Given the description of an element on the screen output the (x, y) to click on. 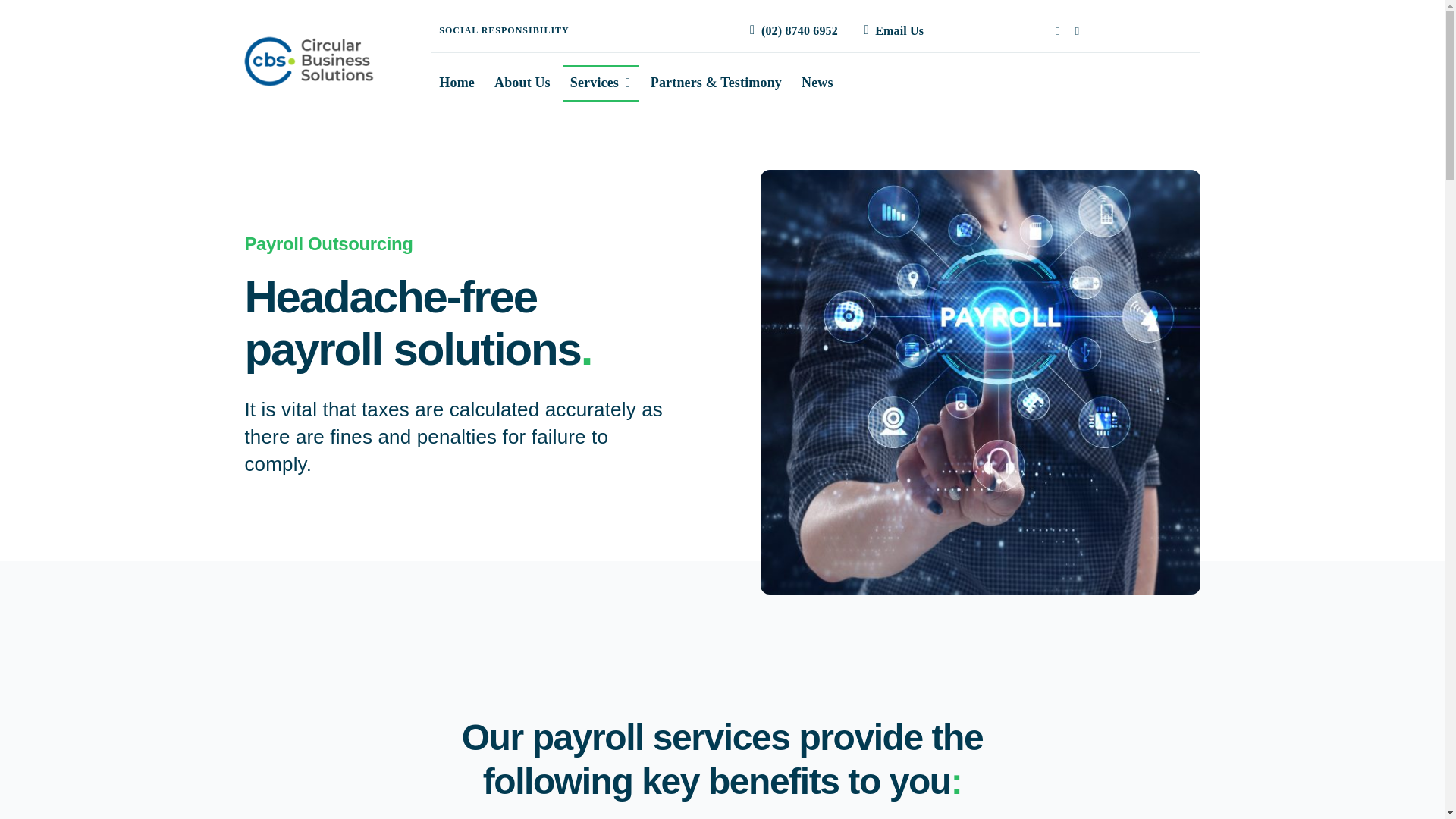
News (817, 83)
Services (600, 83)
About Us (521, 83)
SOCIAL RESPONSIBILITY (503, 30)
Home (455, 83)
Email Us (890, 30)
